Given the description of an element on the screen output the (x, y) to click on. 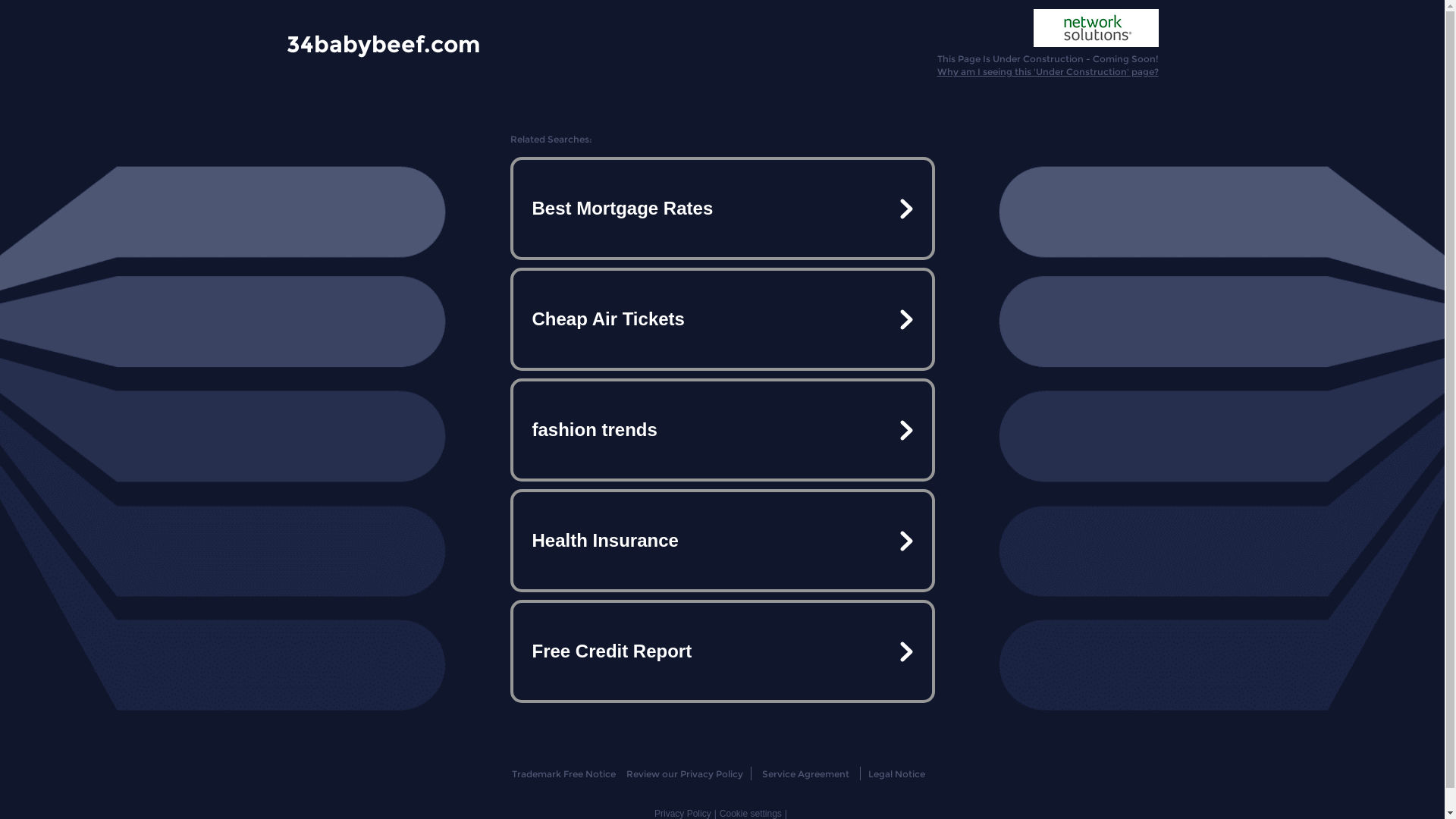
Review our Privacy Policy Element type: text (684, 773)
Trademark Free Notice Element type: text (563, 773)
Best Mortgage Rates Element type: text (721, 208)
Why am I seeing this 'Under Construction' page? Element type: text (1047, 71)
Free Credit Report Element type: text (721, 650)
Service Agreement Element type: text (805, 773)
Cheap Air Tickets Element type: text (721, 318)
34babybeef.com Element type: text (383, 43)
fashion trends Element type: text (721, 429)
Health Insurance Element type: text (721, 540)
Legal Notice Element type: text (896, 773)
